Given the description of an element on the screen output the (x, y) to click on. 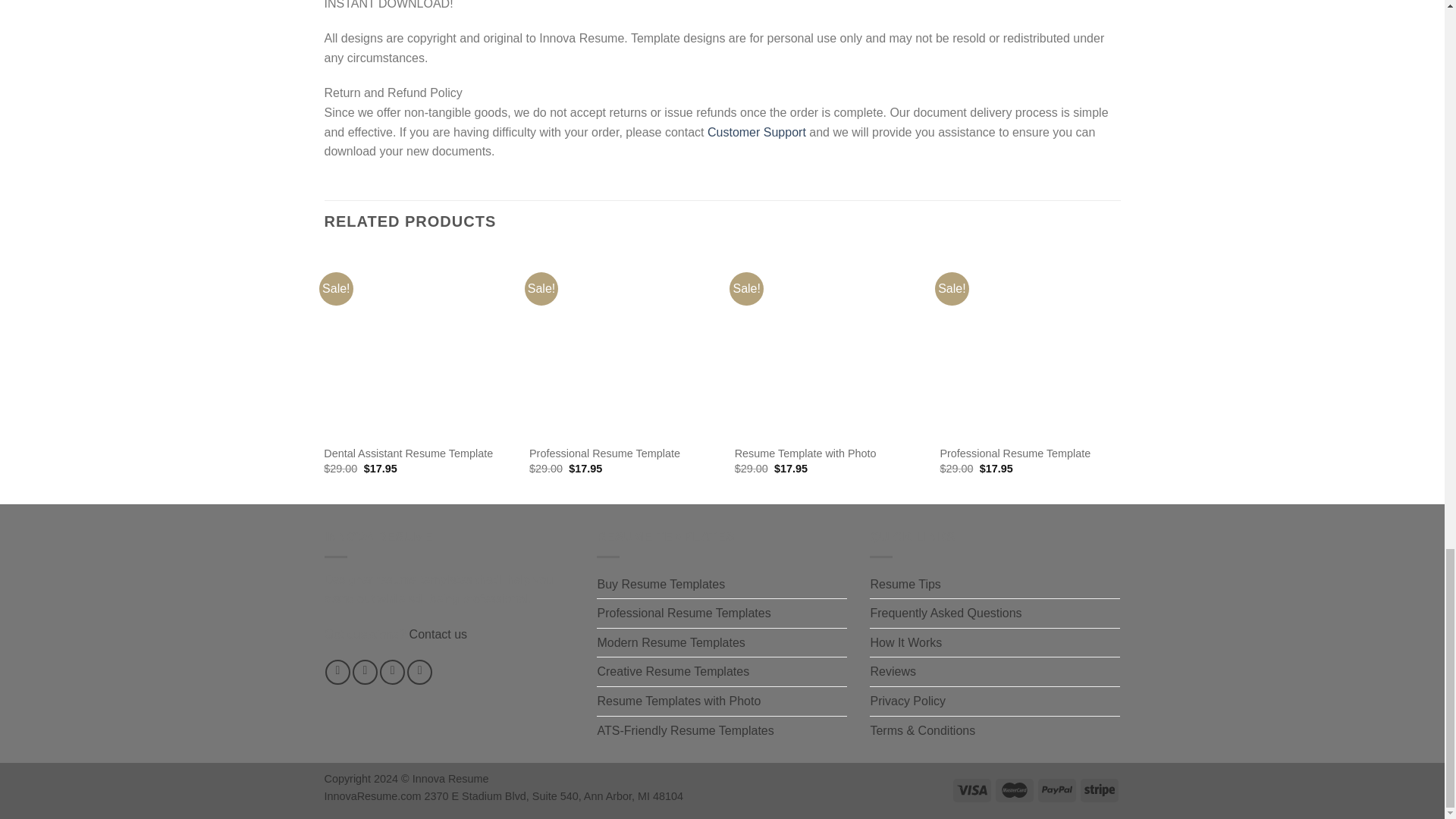
Follow on Pinterest (419, 672)
Follow on Twitter (392, 672)
Follow on Instagram (364, 672)
Follow on Facebook (337, 672)
